Given the description of an element on the screen output the (x, y) to click on. 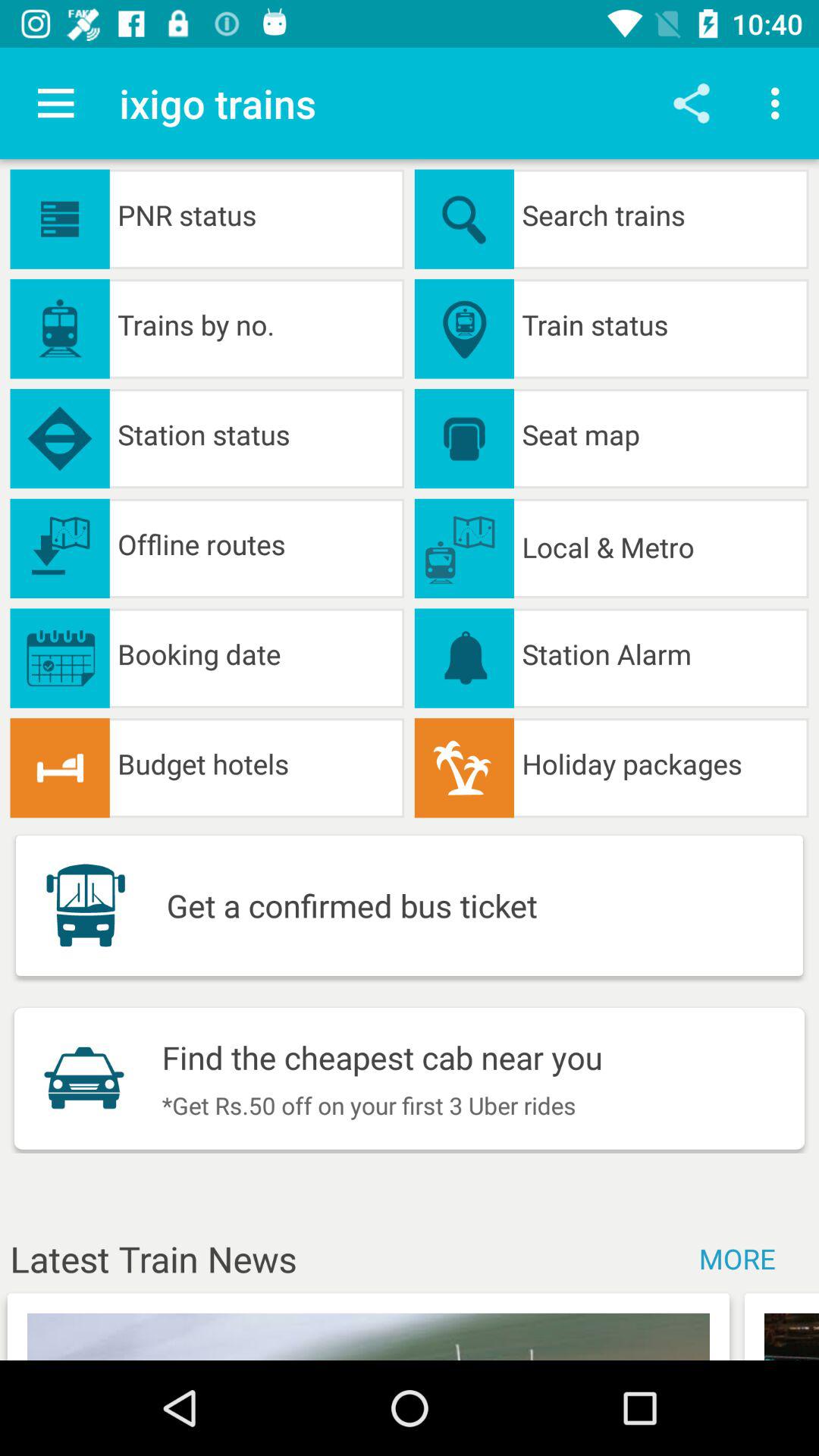
share (691, 103)
